Given the description of an element on the screen output the (x, y) to click on. 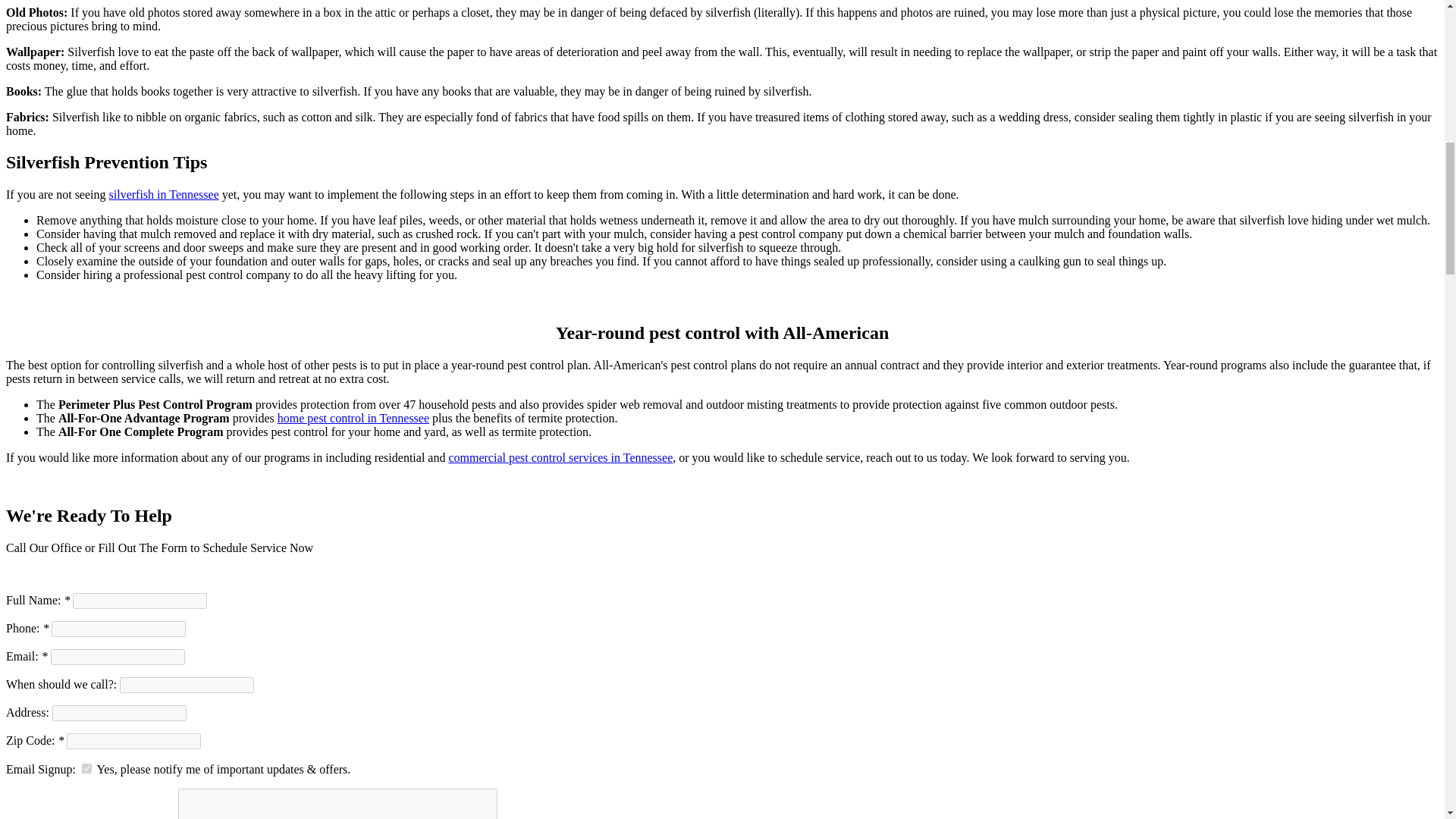
home pest control in Tennessee (353, 418)
silverfish in Tennessee (164, 194)
commercial pest control services in Tennessee (560, 457)
